Given the description of an element on the screen output the (x, y) to click on. 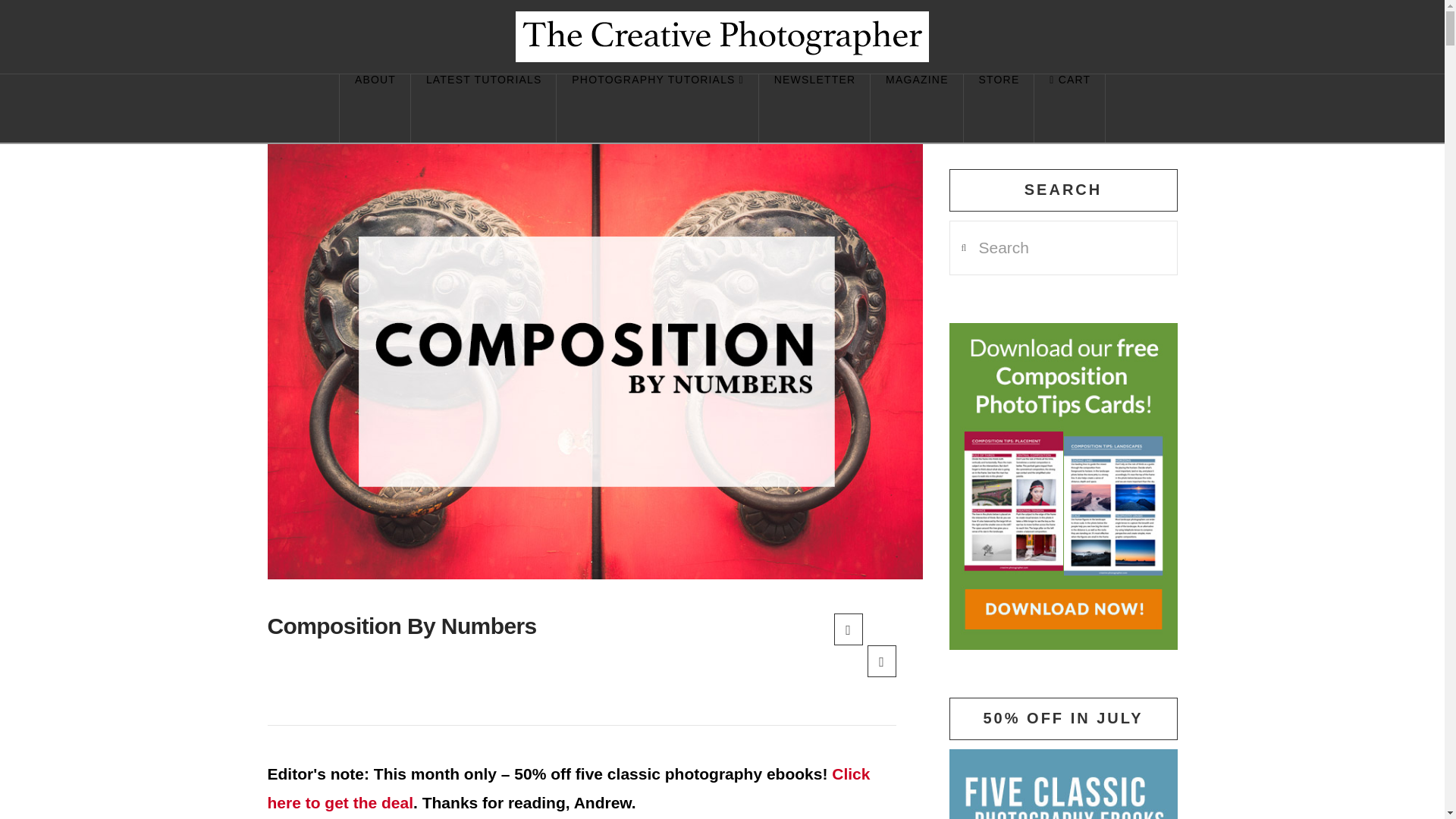
LATEST TUTORIALS (483, 108)
CART (1069, 108)
ABOUT (374, 108)
MAGAZINE (916, 108)
STORE (999, 108)
NEWSLETTER (814, 108)
PHOTOGRAPHY TUTORIALS (657, 108)
